Given the description of an element on the screen output the (x, y) to click on. 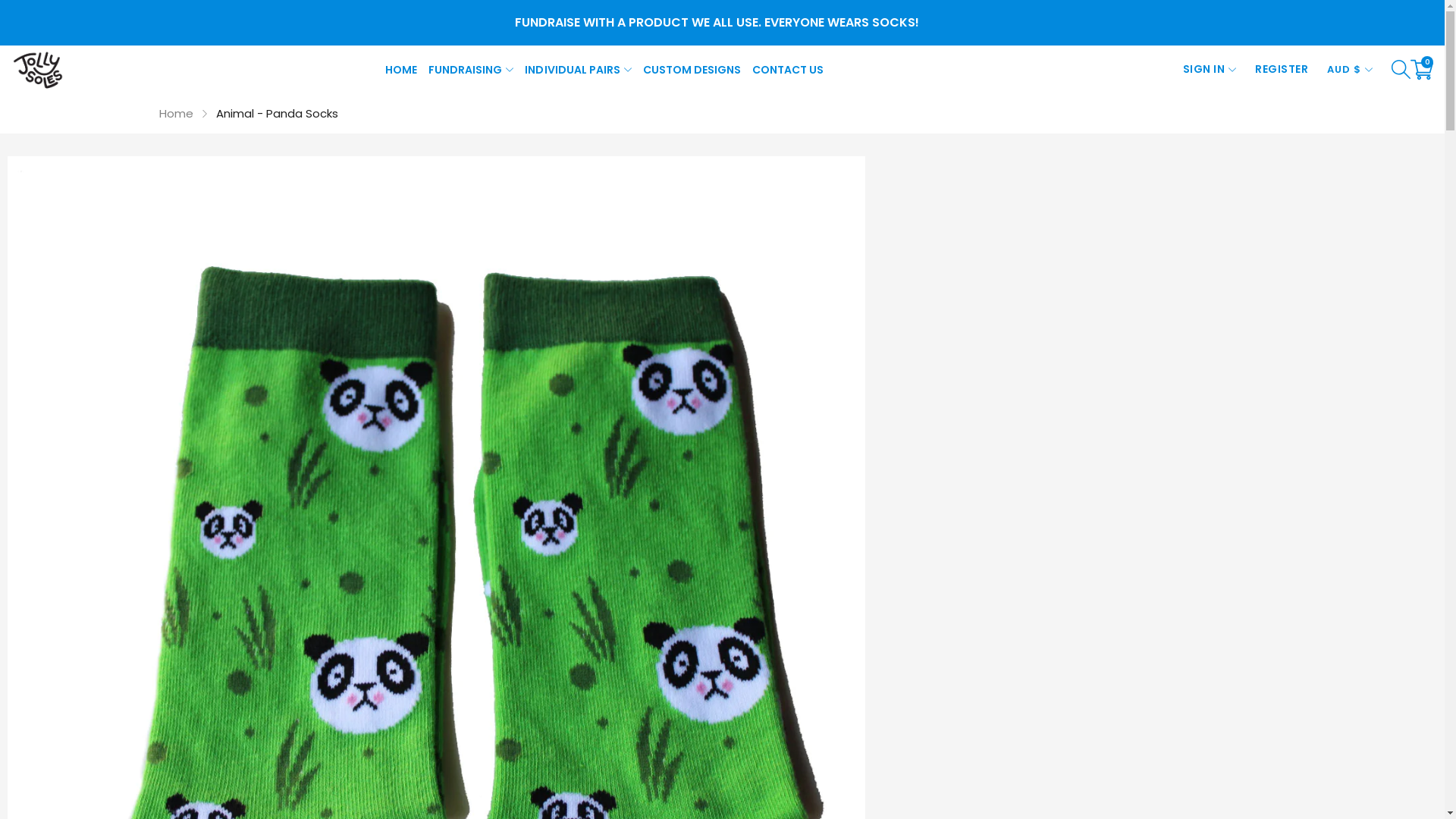
Home Element type: text (176, 113)
HOME Element type: text (402, 69)
AUD $ Element type: text (1349, 69)
FUNDRAISING Element type: text (470, 69)
CONTACT US Element type: text (785, 69)
REGISTER Element type: text (1281, 69)
INDIVIDUAL PAIRS Element type: text (577, 69)
CUSTOM DESIGNS Element type: text (691, 69)
0
Translation missing: en.sections.cart.cart_count Element type: text (1421, 69)
SIGN IN Element type: text (1209, 69)
